Given the description of an element on the screen output the (x, y) to click on. 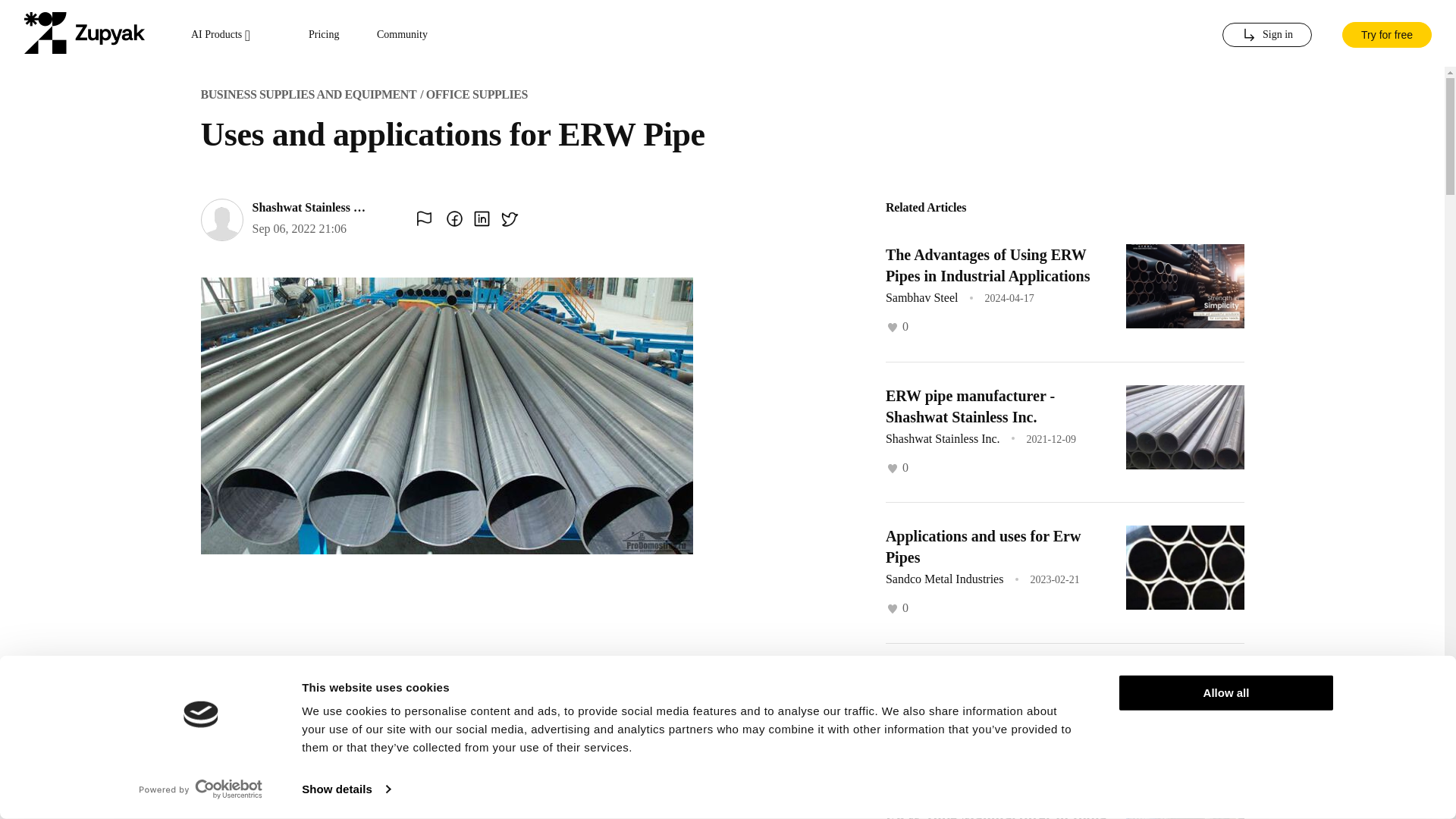
Most Trustworthy ERW Pipe Manufacturer  (980, 687)
The Advantages of Using ERW Pipes in Industrial Applications (987, 265)
Applications and uses for Erw Pipes (982, 546)
ERW pipe manufacturer - Shashwat Stainless Inc. (969, 405)
Show details (345, 789)
